Given the description of an element on the screen output the (x, y) to click on. 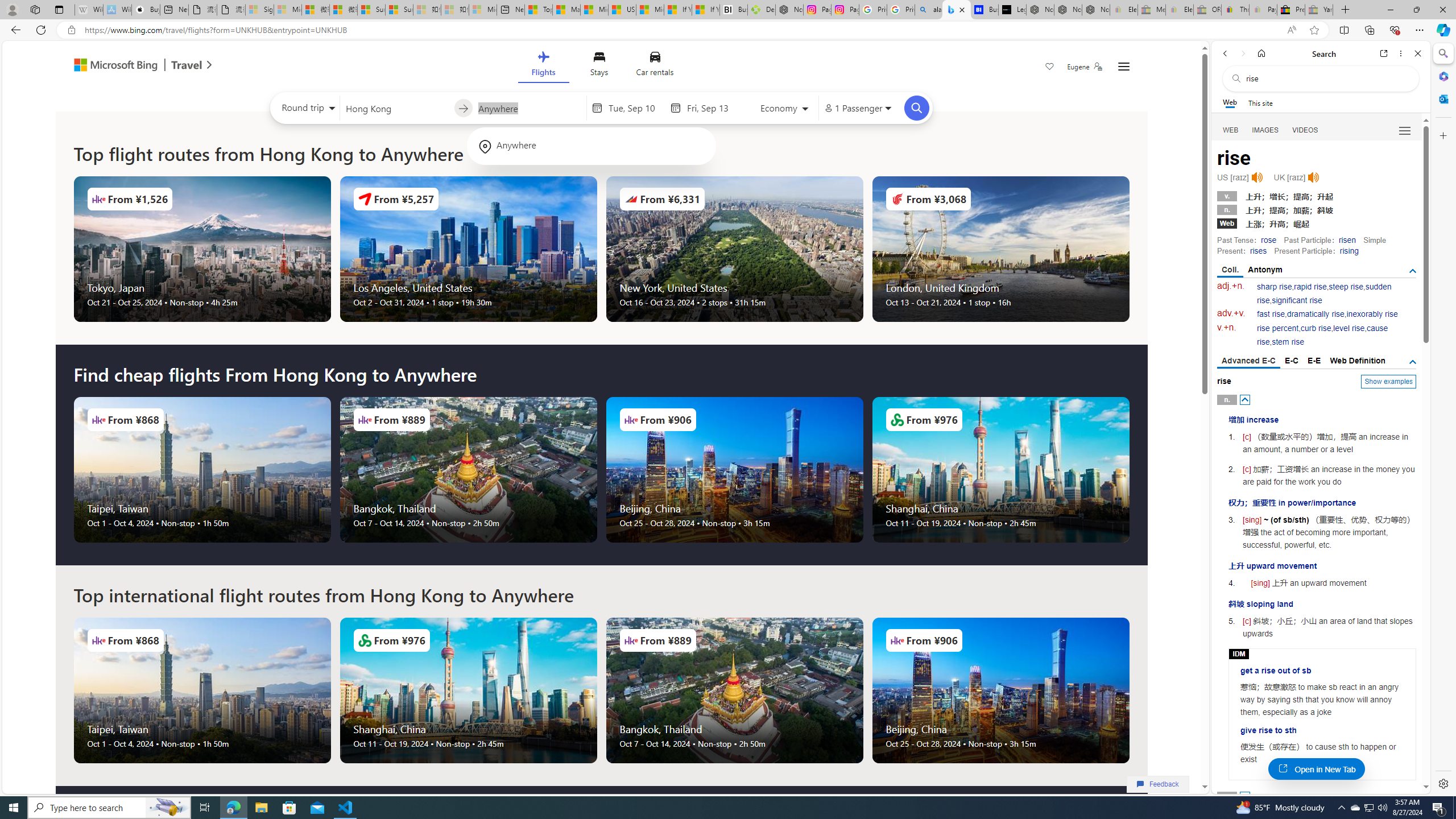
rises (1257, 250)
